Given the description of an element on the screen output the (x, y) to click on. 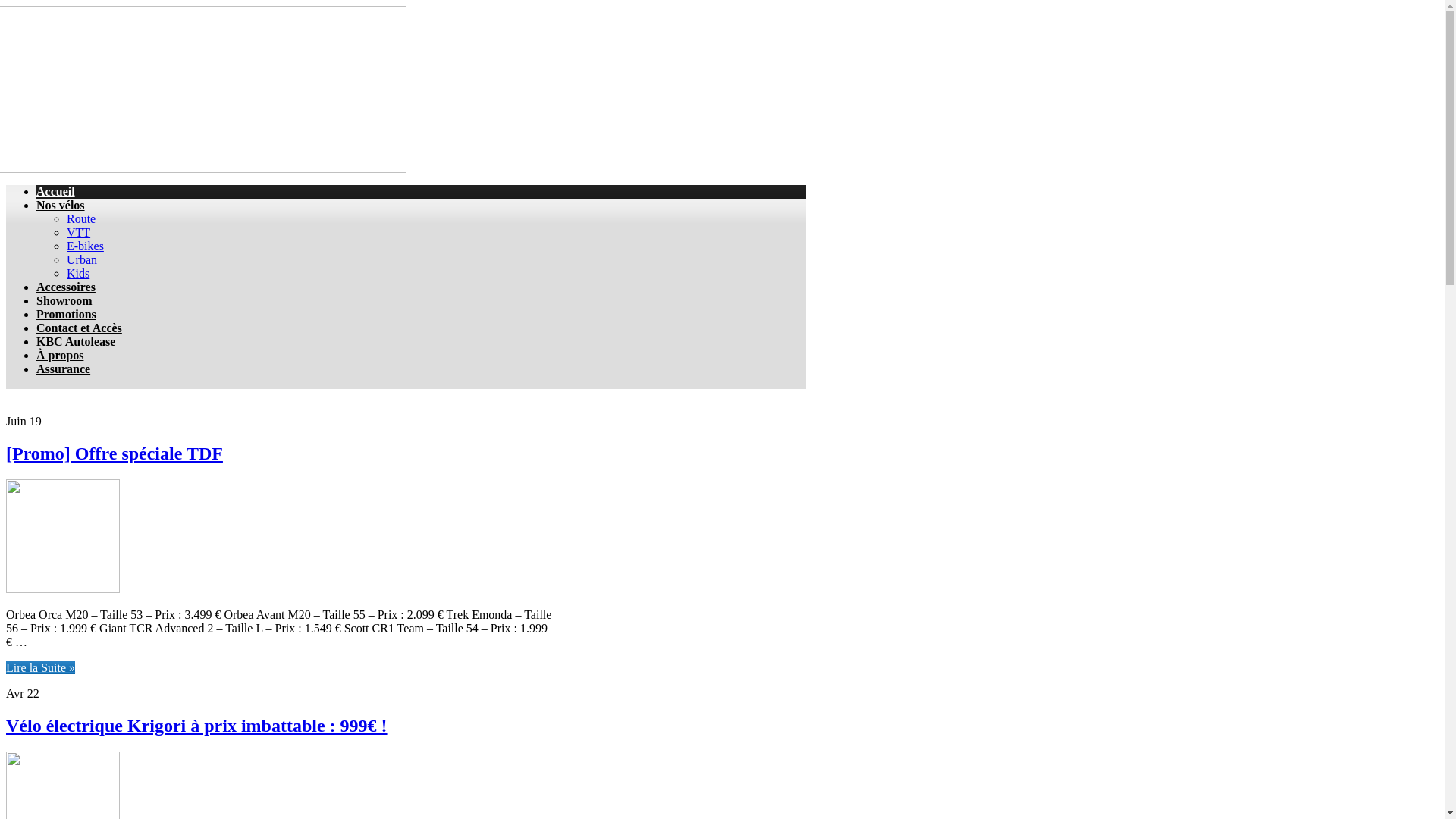
Kids Element type: text (77, 272)
KBC Autolease Element type: text (75, 341)
Accueil Element type: text (55, 191)
Promotions Element type: text (66, 313)
Route Element type: text (80, 218)
E-bikes Element type: text (84, 245)
Accessoires Element type: text (65, 286)
Assurance Element type: text (63, 368)
Showroom Element type: text (64, 300)
Urban Element type: text (81, 259)
VTT Element type: text (78, 231)
